Given the description of an element on the screen output the (x, y) to click on. 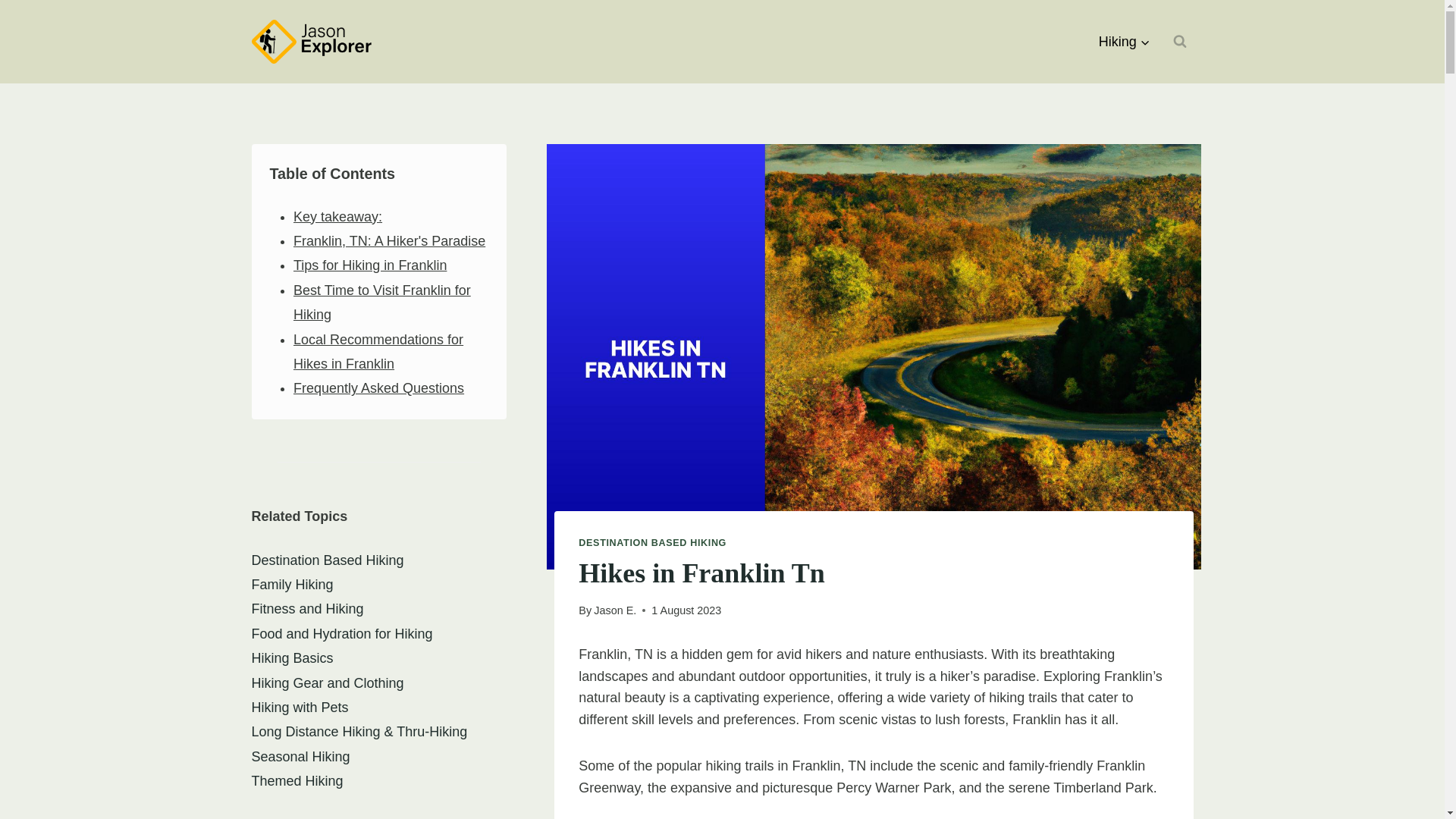
DESTINATION BASED HIKING (652, 542)
Jason E. (615, 610)
Hiking (1124, 41)
